Given the description of an element on the screen output the (x, y) to click on. 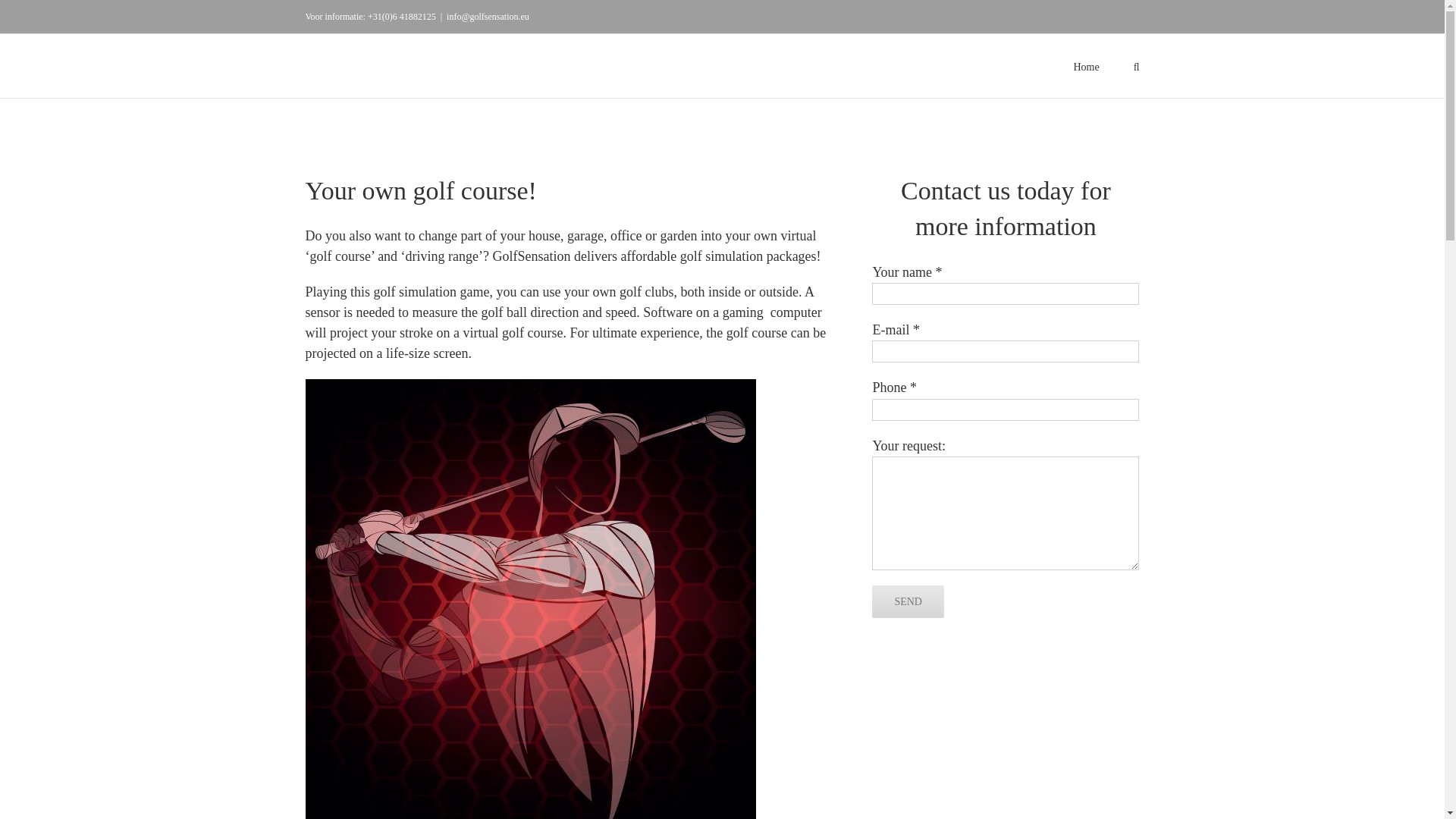
Home (1086, 65)
Search (1137, 65)
SEND (907, 601)
SEND (907, 601)
